Given the description of an element on the screen output the (x, y) to click on. 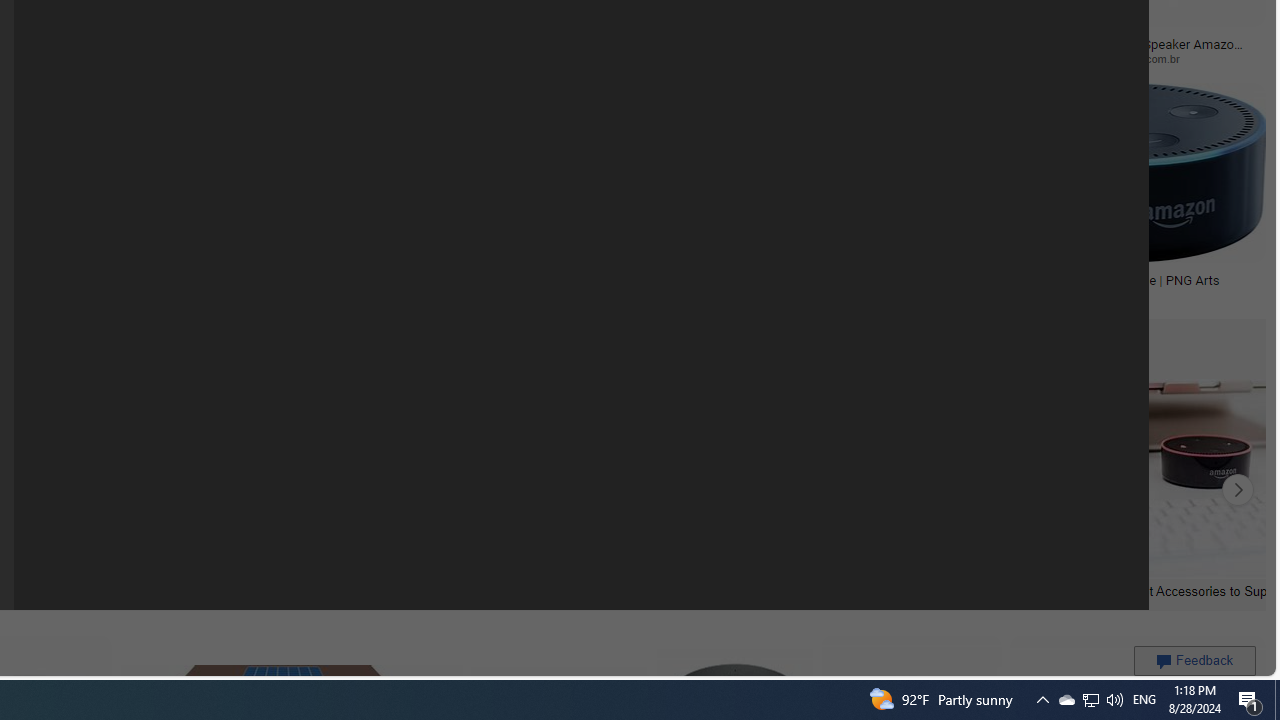
Amazon.com: echo dot accessories (909, 589)
energyearth.com (84, 294)
Best Amazon Echo Dot Accessories for 2024 (437, 589)
winmaec.com (740, 58)
inpower.com.br (1149, 57)
Click to scroll right (1238, 489)
skroutz.gr (359, 295)
pngarts.com (1123, 295)
